Given the description of an element on the screen output the (x, y) to click on. 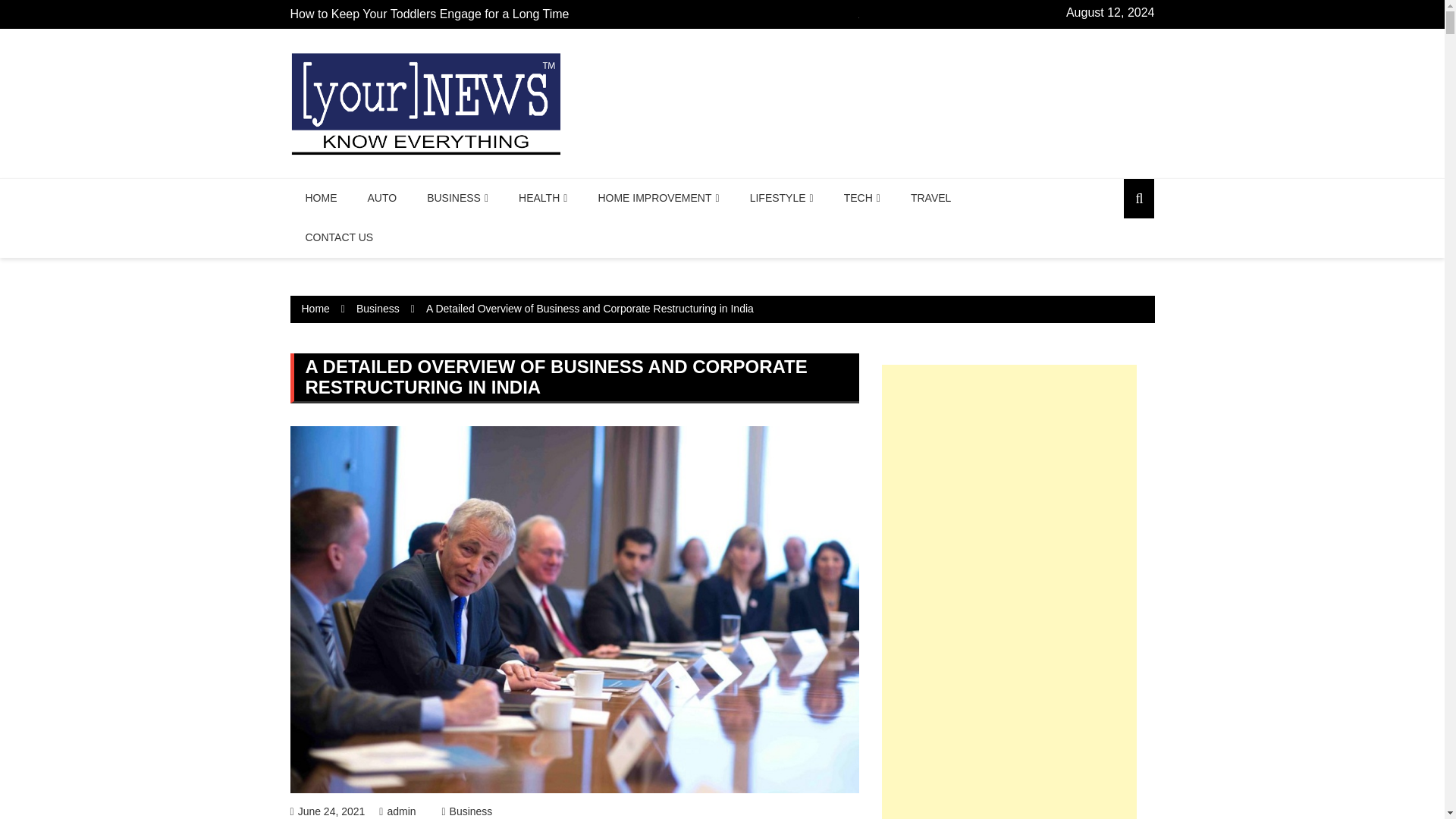
BUSINESS (457, 198)
LIFESTYLE (781, 198)
HEALTH (542, 198)
HOME IMPROVEMENT (657, 198)
HOME (320, 198)
How to Keep Your Toddlers Engage for a Long Time (429, 13)
AUTO (382, 198)
